Given the description of an element on the screen output the (x, y) to click on. 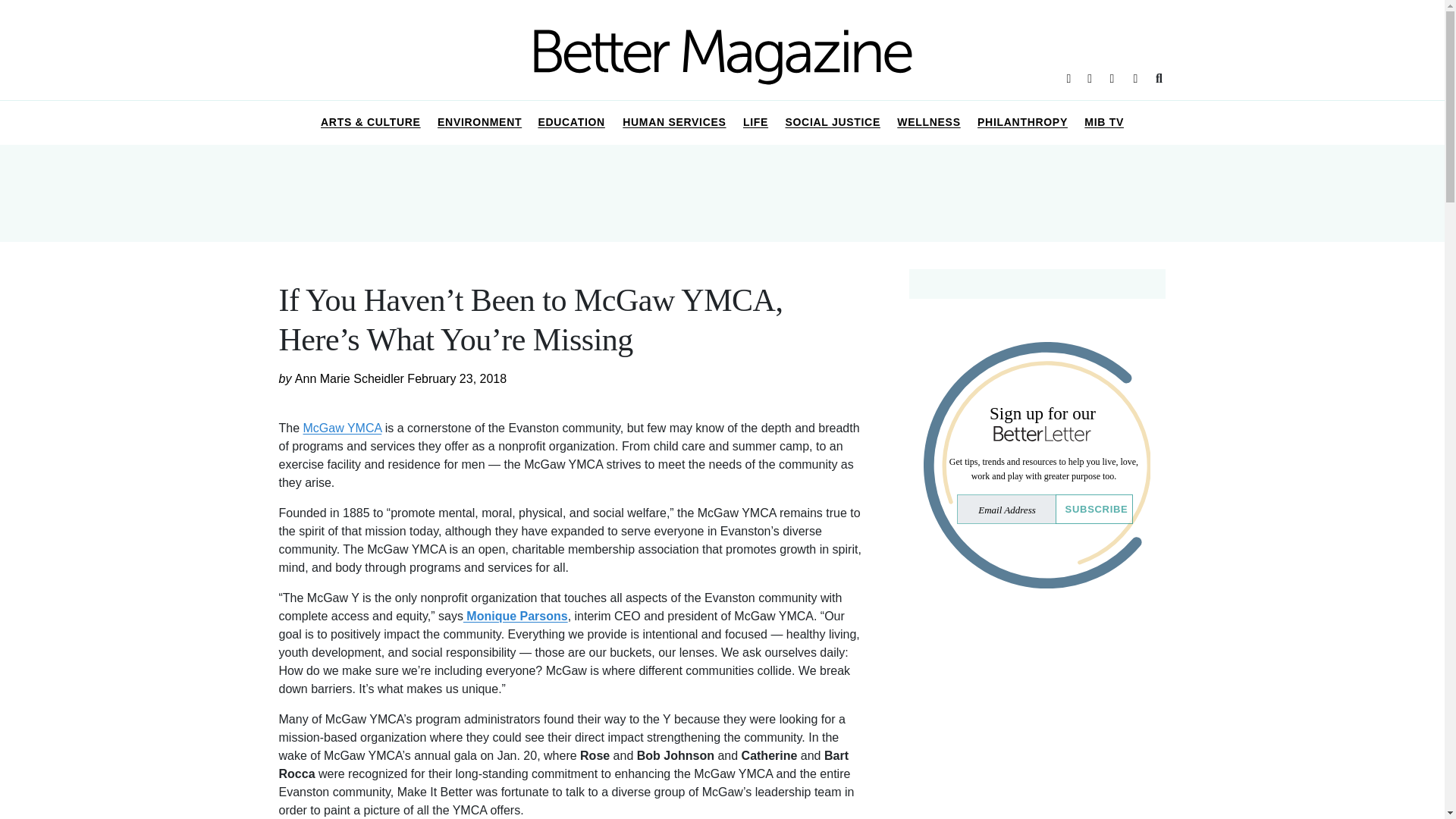
SOCIAL JUSTICE (832, 122)
PHILANTHROPY (1022, 122)
ENVIRONMENT (480, 122)
LIFE (756, 122)
WELLNESS (928, 122)
EDUCATION (571, 122)
McGaw YMCA (341, 427)
HUMAN SERVICES (674, 122)
Monique Parsons (515, 615)
by Ann Marie Scheidler (343, 378)
